Given the description of an element on the screen output the (x, y) to click on. 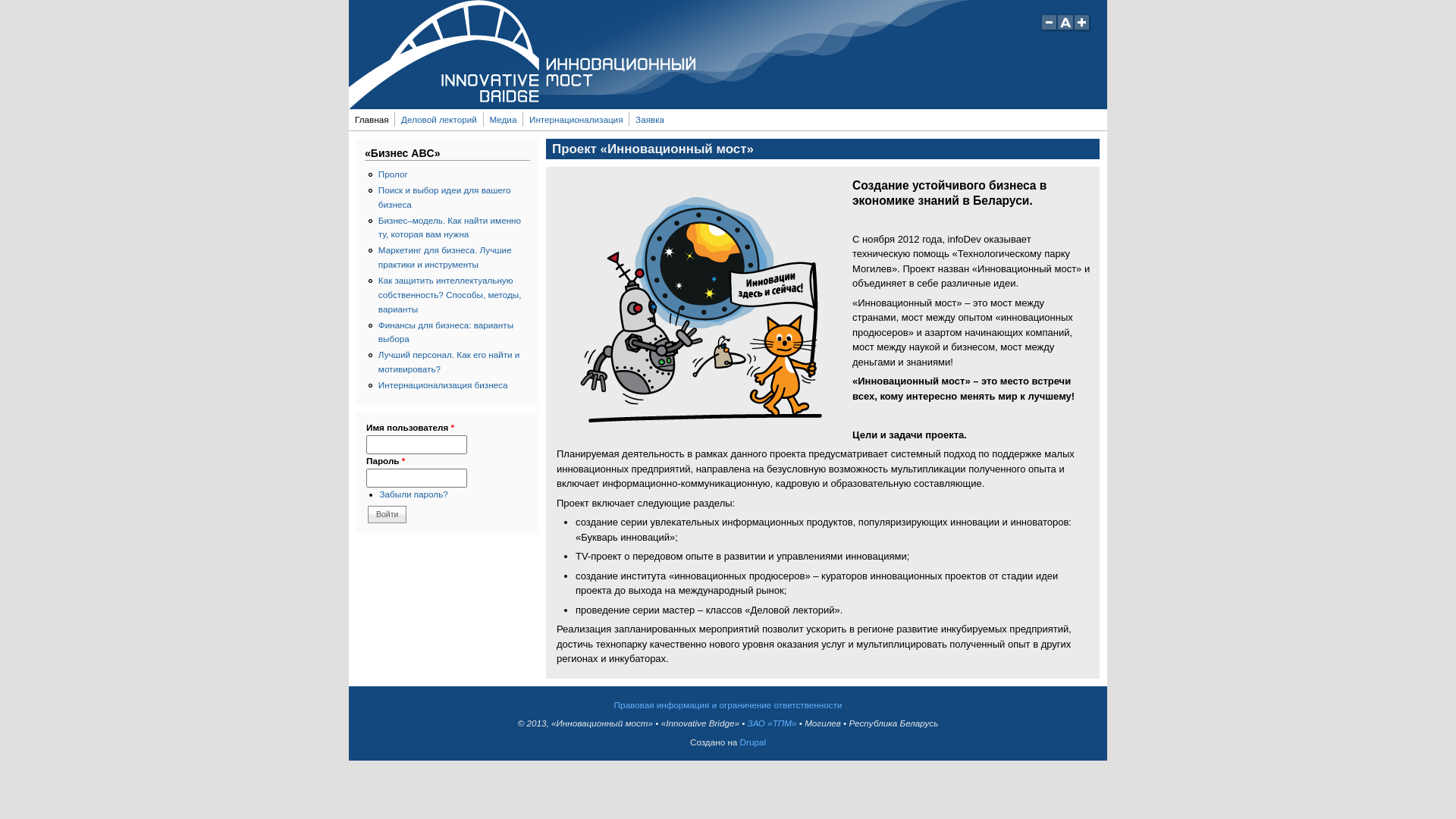
Restore default text size Element type: hover (1065, 28)
Increase text size Element type: hover (1083, 28)
Drupal Element type: text (752, 741)
Decrease text size Element type: hover (1048, 28)
